Given the description of an element on the screen output the (x, y) to click on. 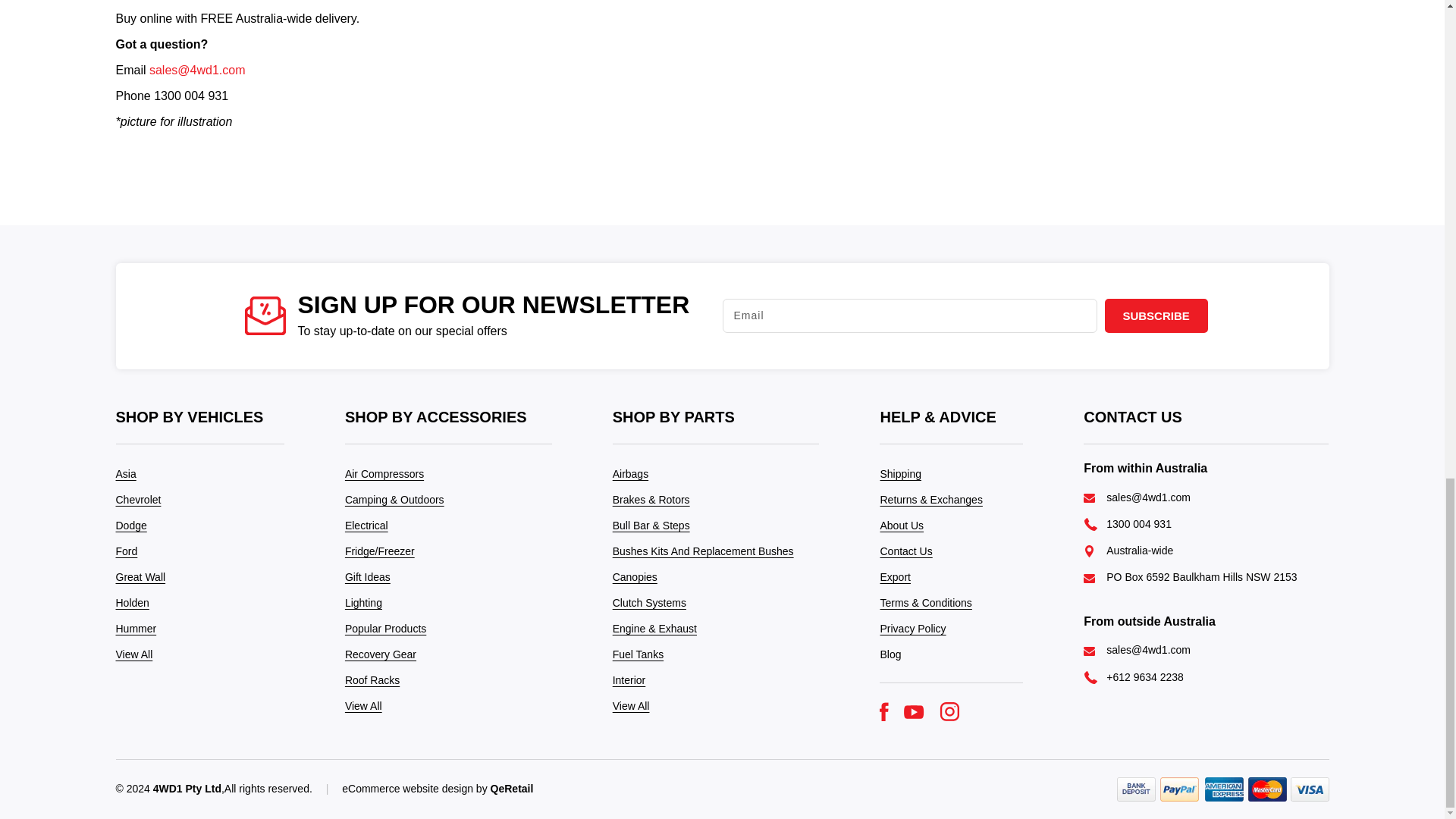
1300 004 931 (1139, 523)
